Given the description of an element on the screen output the (x, y) to click on. 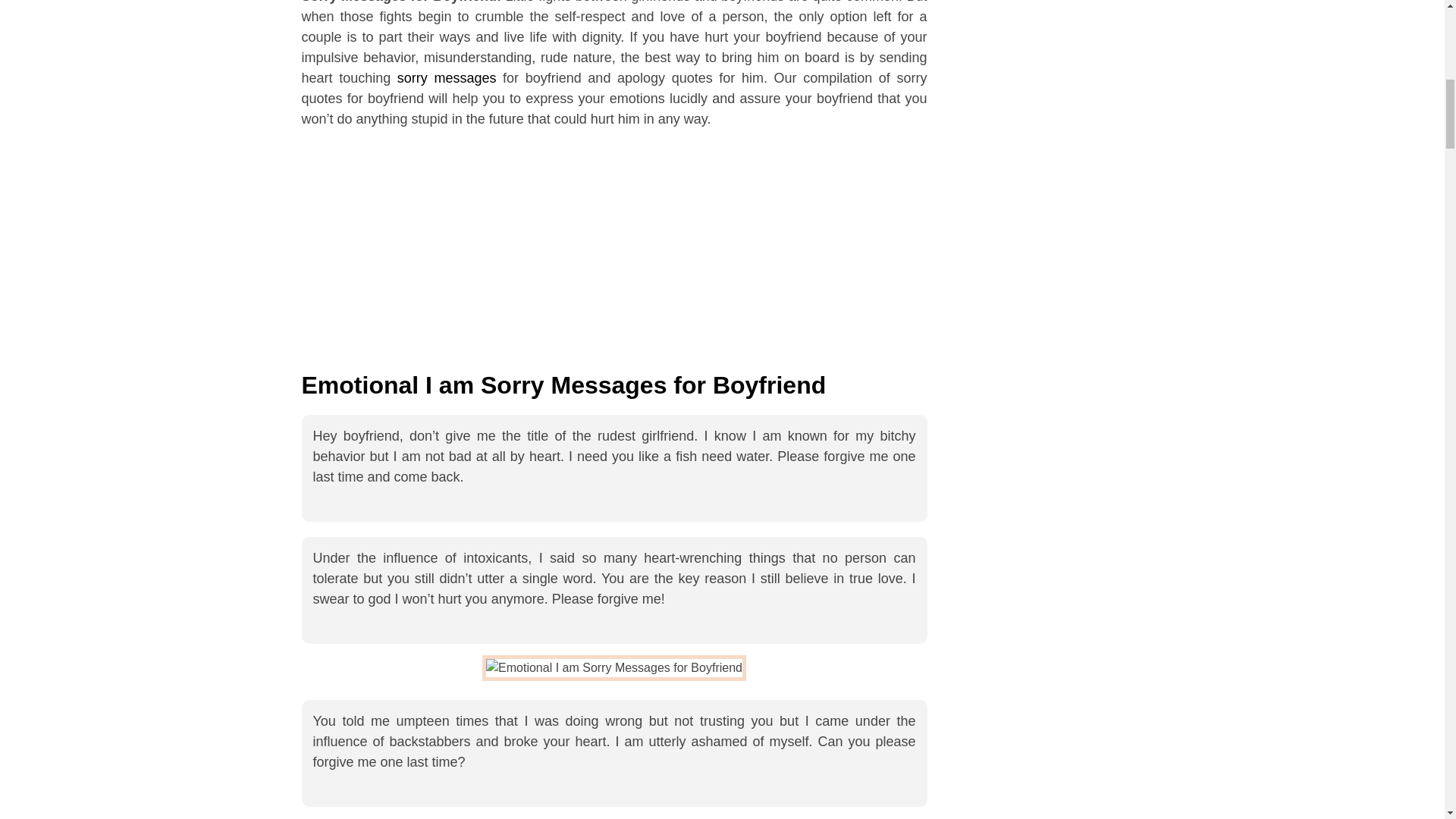
sorry messages (446, 77)
Advertisement (614, 258)
